Given the description of an element on the screen output the (x, y) to click on. 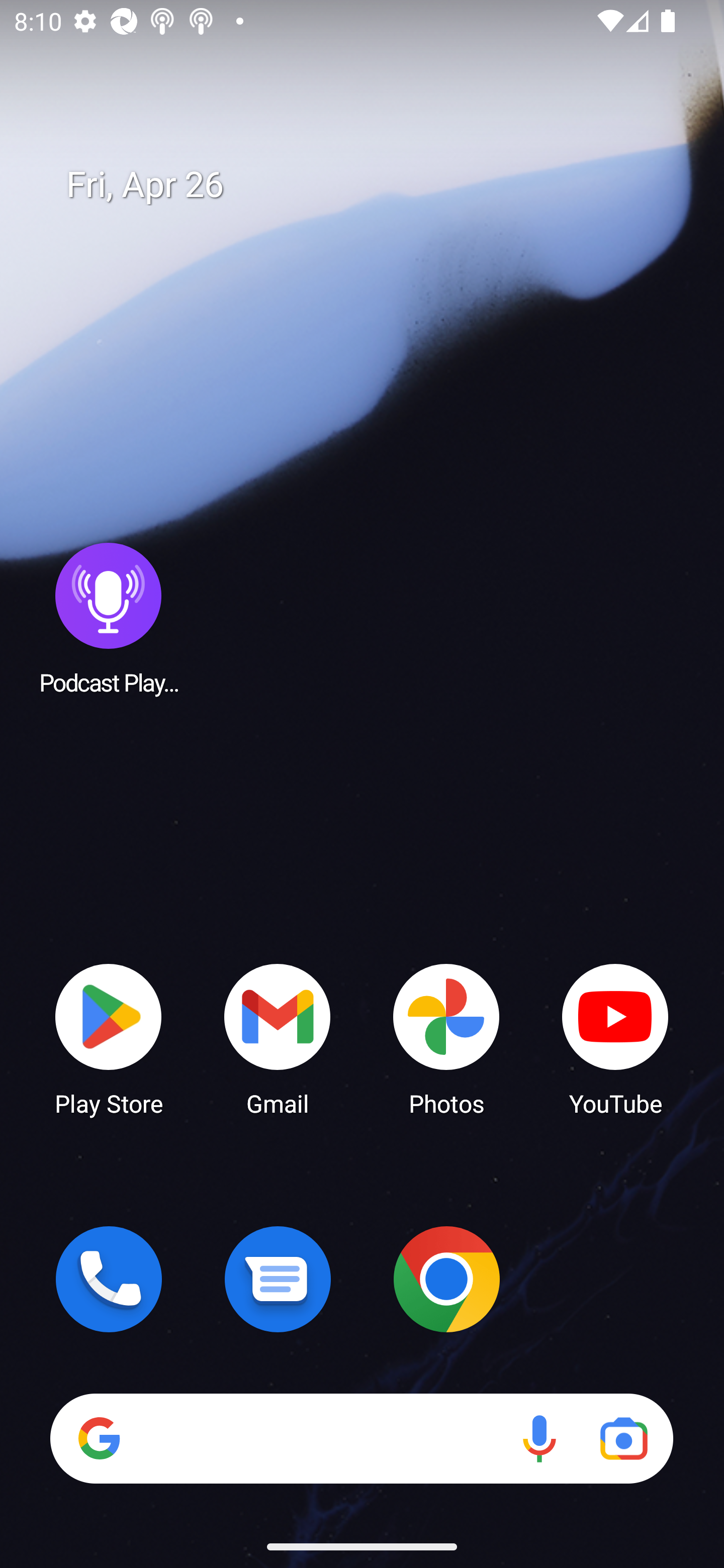
Fri, Apr 26 (375, 184)
Podcast Player (108, 617)
Play Store (108, 1038)
Gmail (277, 1038)
Photos (445, 1038)
YouTube (615, 1038)
Phone (108, 1279)
Messages (277, 1279)
Chrome (446, 1279)
Search Voice search Google Lens (361, 1438)
Voice search (539, 1438)
Google Lens (623, 1438)
